Given the description of an element on the screen output the (x, y) to click on. 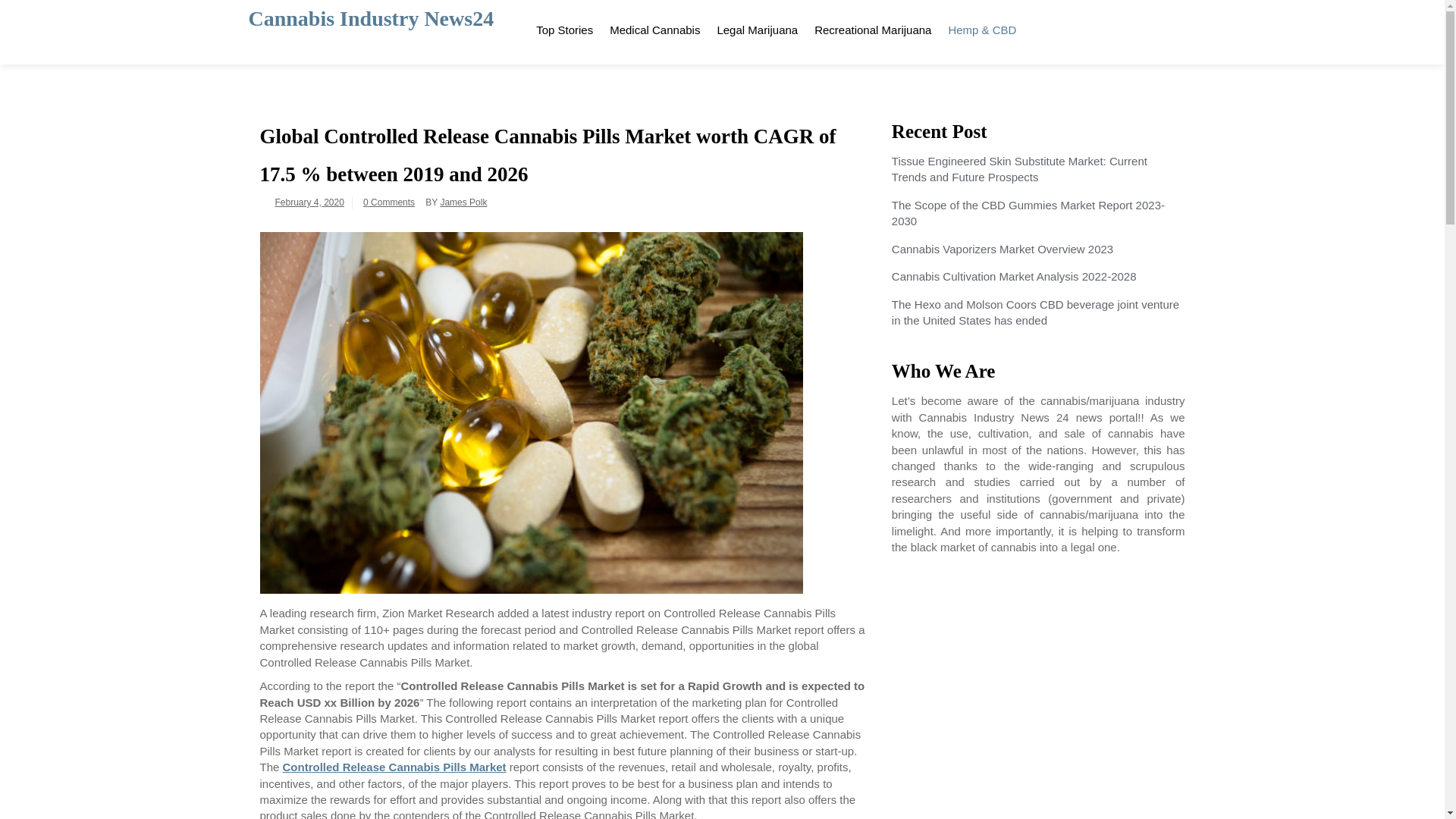
Medical Cannabis (654, 28)
Recreational Marijuana (872, 28)
February 4, 2020 (309, 202)
Top Stories (564, 28)
Medical Cannabis (654, 28)
Recreational Marijuana (872, 28)
The Scope of the CBD Gummies Market Report 2023-2030 (1027, 213)
Cannabis Cultivation Market Analysis 2022-2028 (1014, 276)
Cannabis Industry News24 (371, 18)
James Polk (462, 202)
Legal Marijuana (756, 28)
Top Stories (564, 28)
Controlled Release Cannabis Pills Market (394, 766)
0 Comments (388, 202)
